Given the description of an element on the screen output the (x, y) to click on. 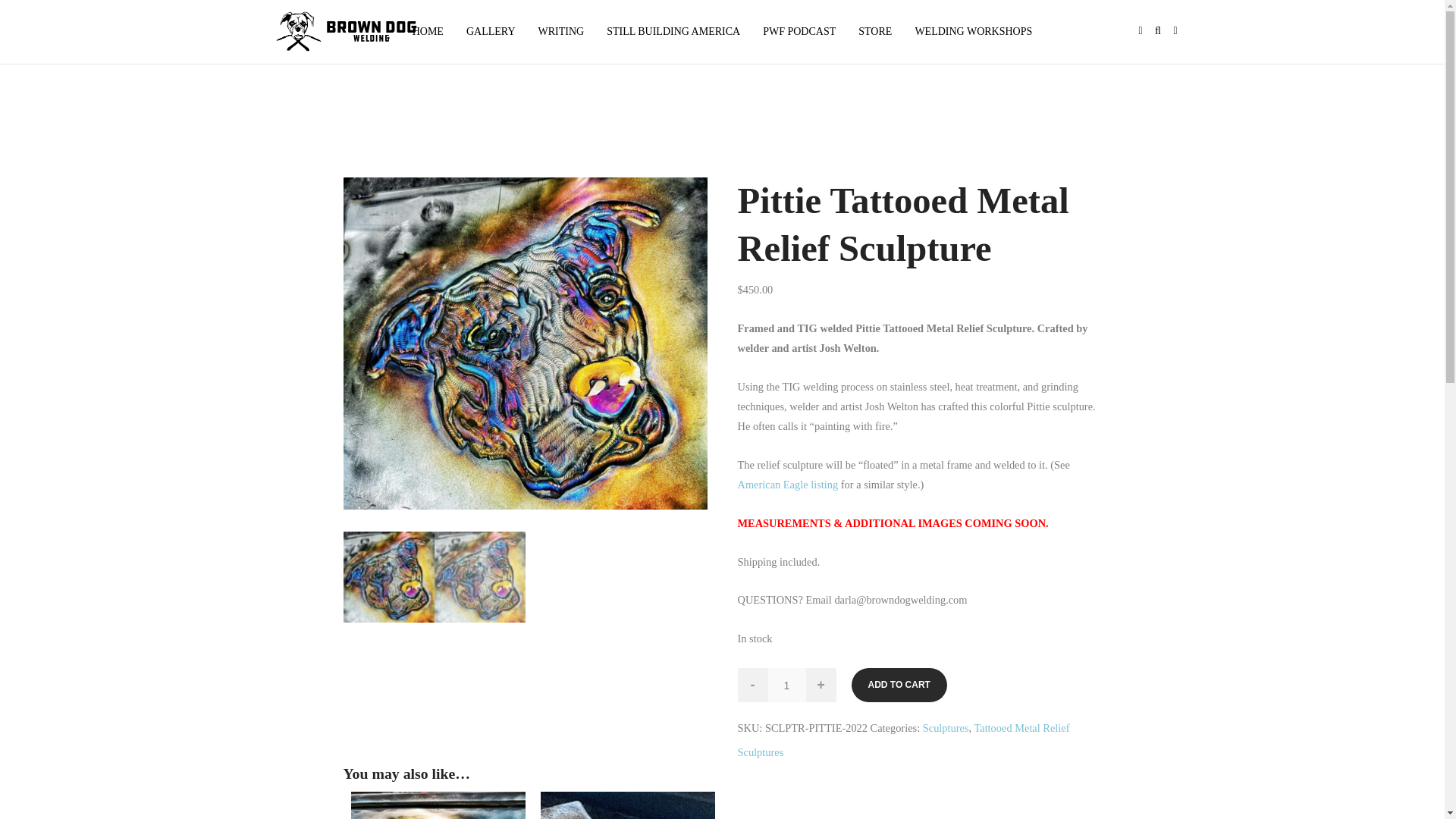
PWF PODCAST (799, 31)
STILL BUILDING AMERICA (673, 31)
GALLERY (490, 31)
Pittie by Josh Welton (524, 343)
1 (786, 684)
WELDING WORKSHOPS (972, 31)
WRITING (560, 31)
